Given the description of an element on the screen output the (x, y) to click on. 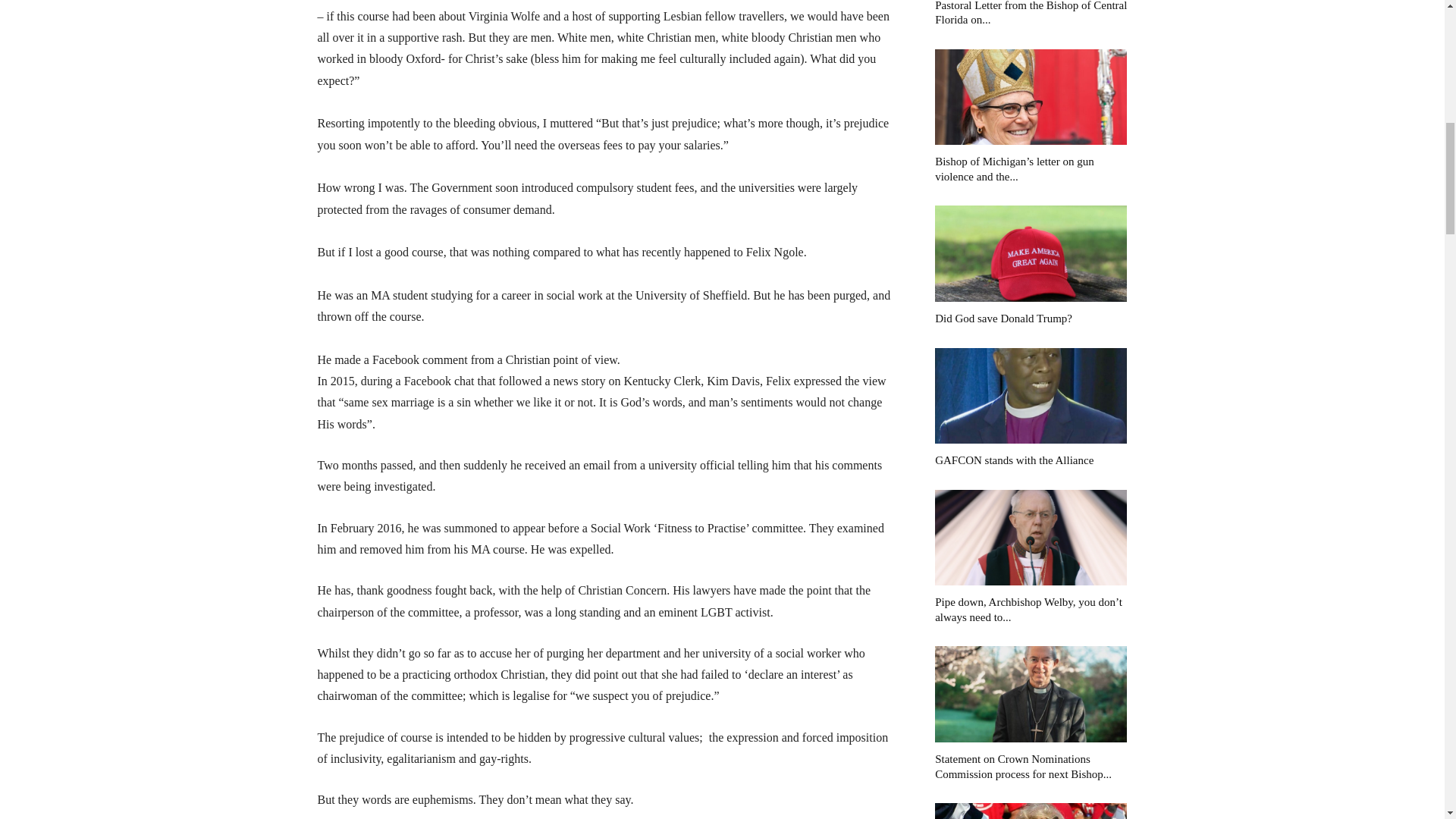
GAFCON stands with the Alliance (1030, 396)
GAFCON stands with the Alliance (1013, 460)
Pastoral Letter from the Bishop of Central Florida on... (1030, 13)
GAFCON stands with the Alliance (1013, 460)
Did God save Donald Trump? (1030, 253)
Did God save Donald Trump? (1002, 318)
Did God save Donald Trump? (1002, 318)
